Given the description of an element on the screen output the (x, y) to click on. 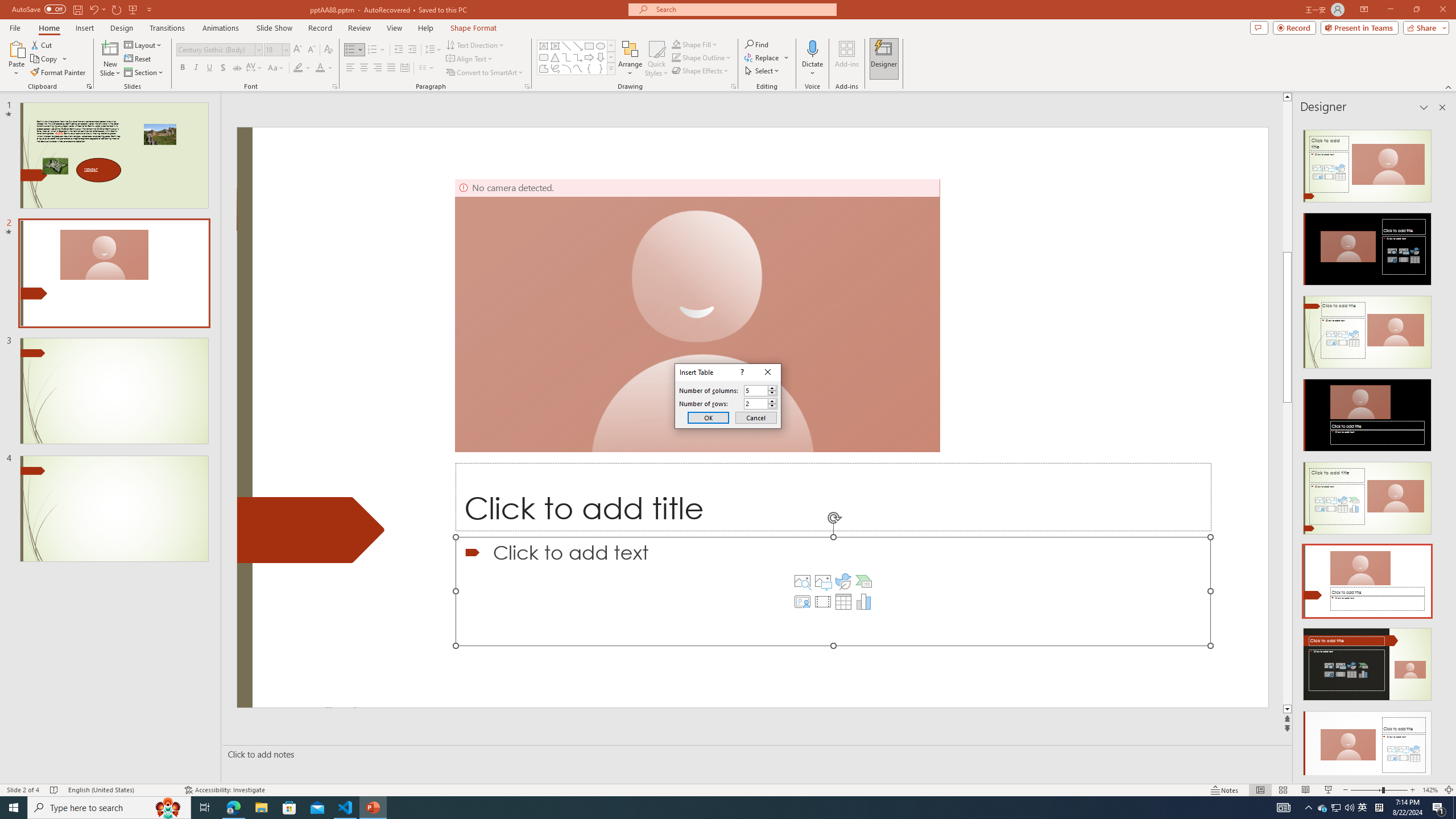
OK (708, 417)
